Given the description of an element on the screen output the (x, y) to click on. 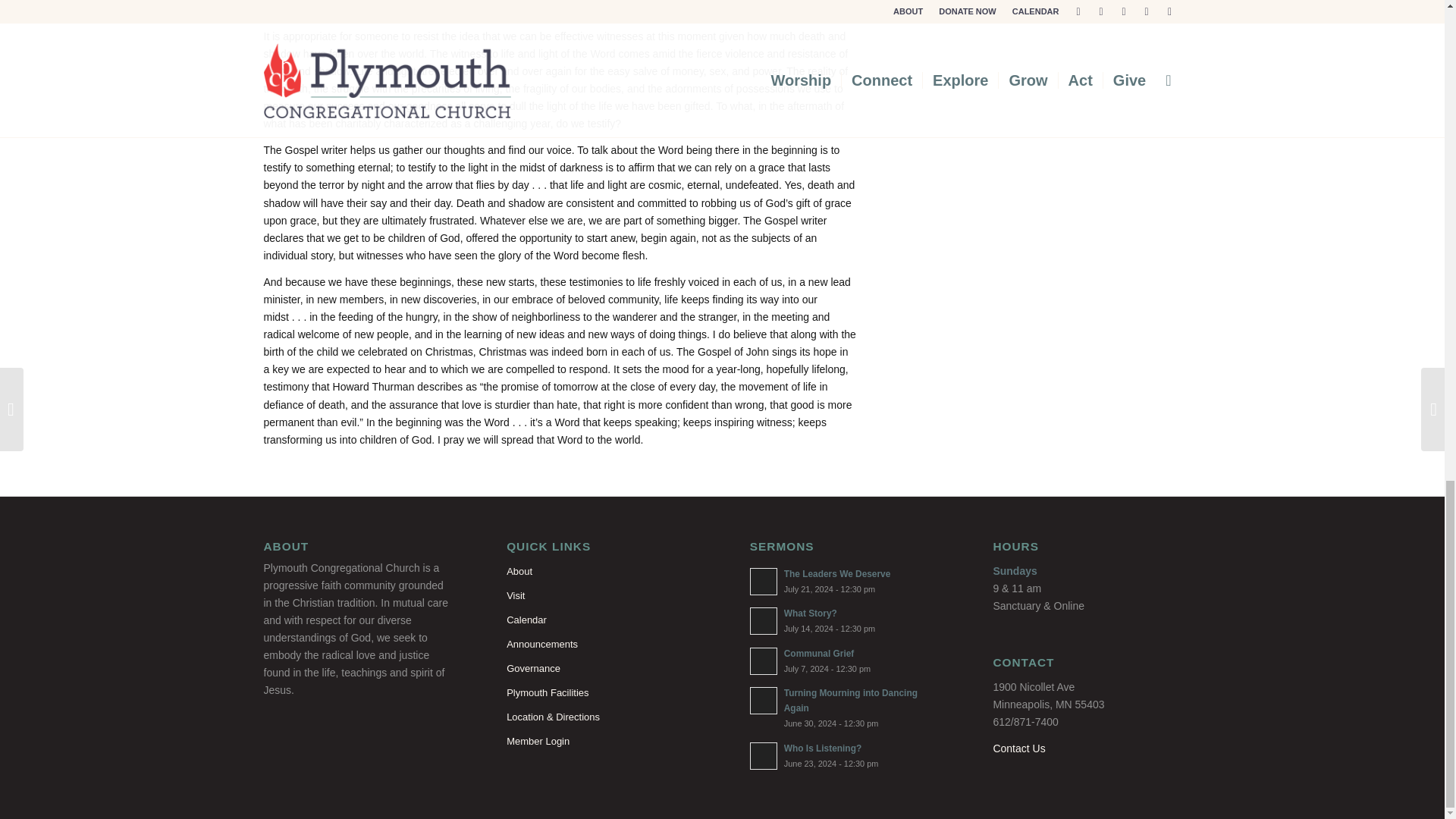
Calendar (600, 620)
About (600, 571)
Visit (600, 595)
Governance (600, 668)
Plymouth Facilities (600, 692)
Announcements (600, 644)
